Given the description of an element on the screen output the (x, y) to click on. 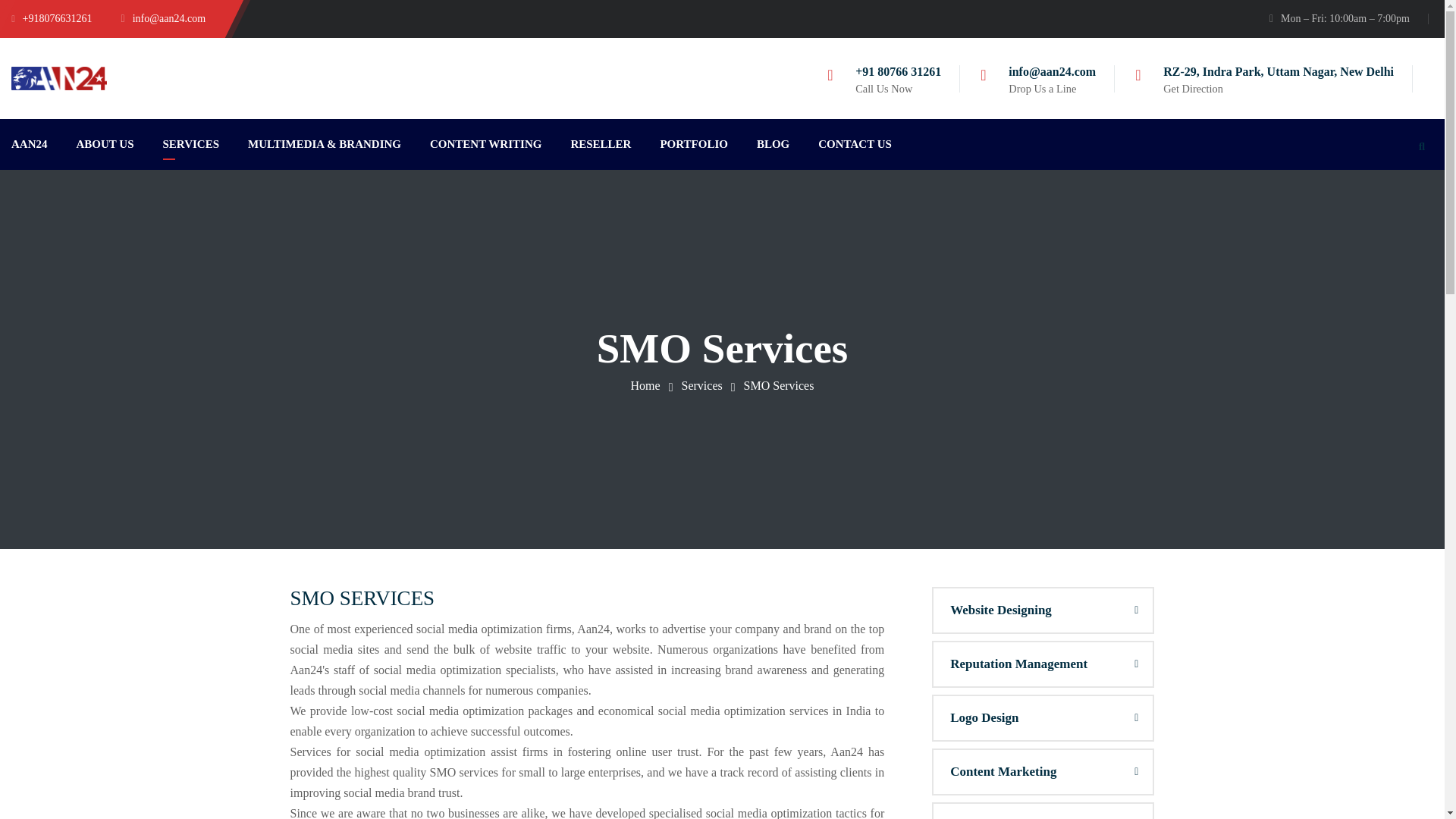
ABOUT US (104, 143)
SERVICES (190, 143)
Services (701, 385)
